Given the description of an element on the screen output the (x, y) to click on. 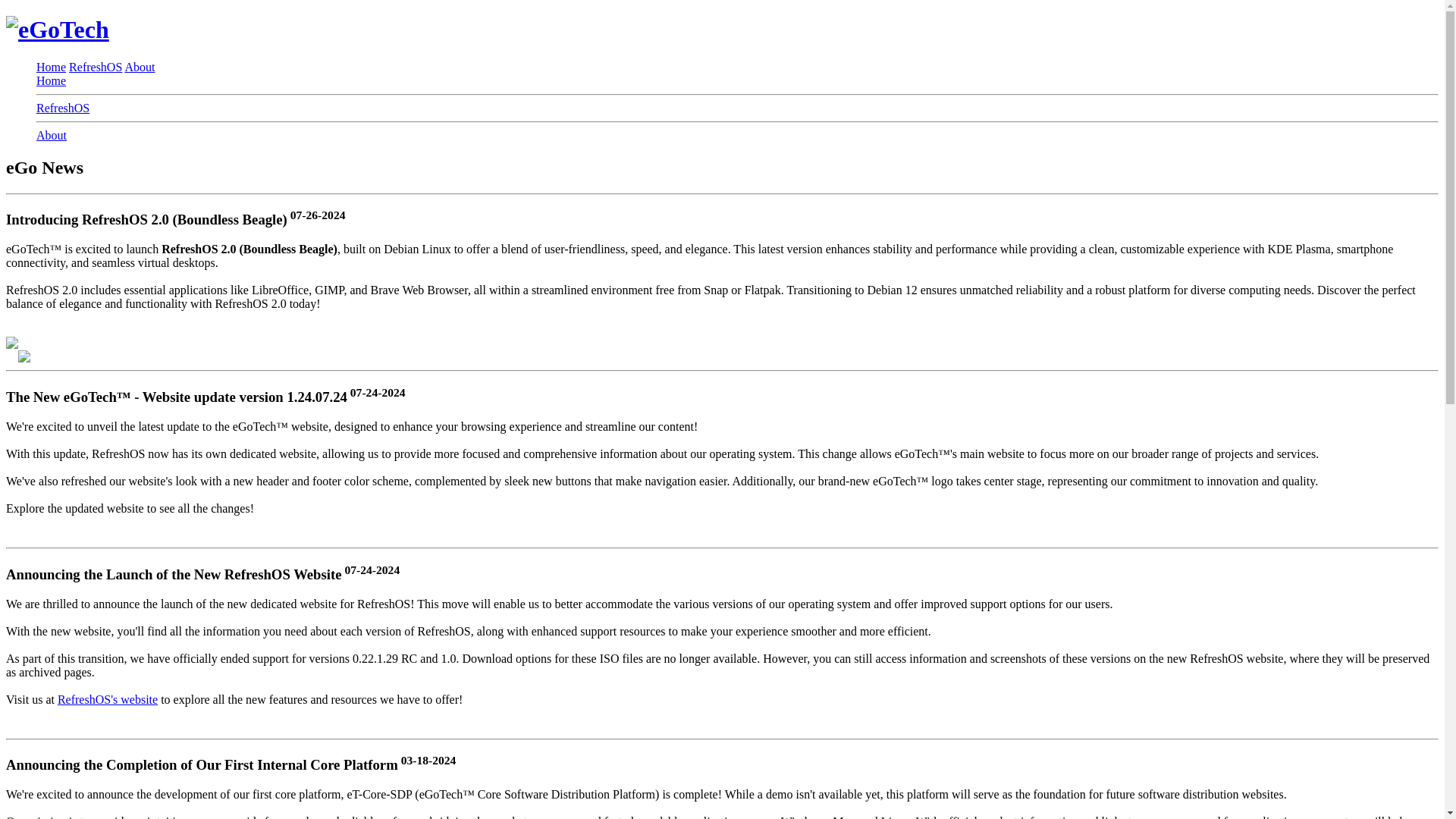
RefreshOS (95, 66)
About (138, 66)
Home (50, 66)
About (51, 134)
RefreshOS (62, 107)
Home (50, 80)
RefreshOS's website (107, 698)
